Given the description of an element on the screen output the (x, y) to click on. 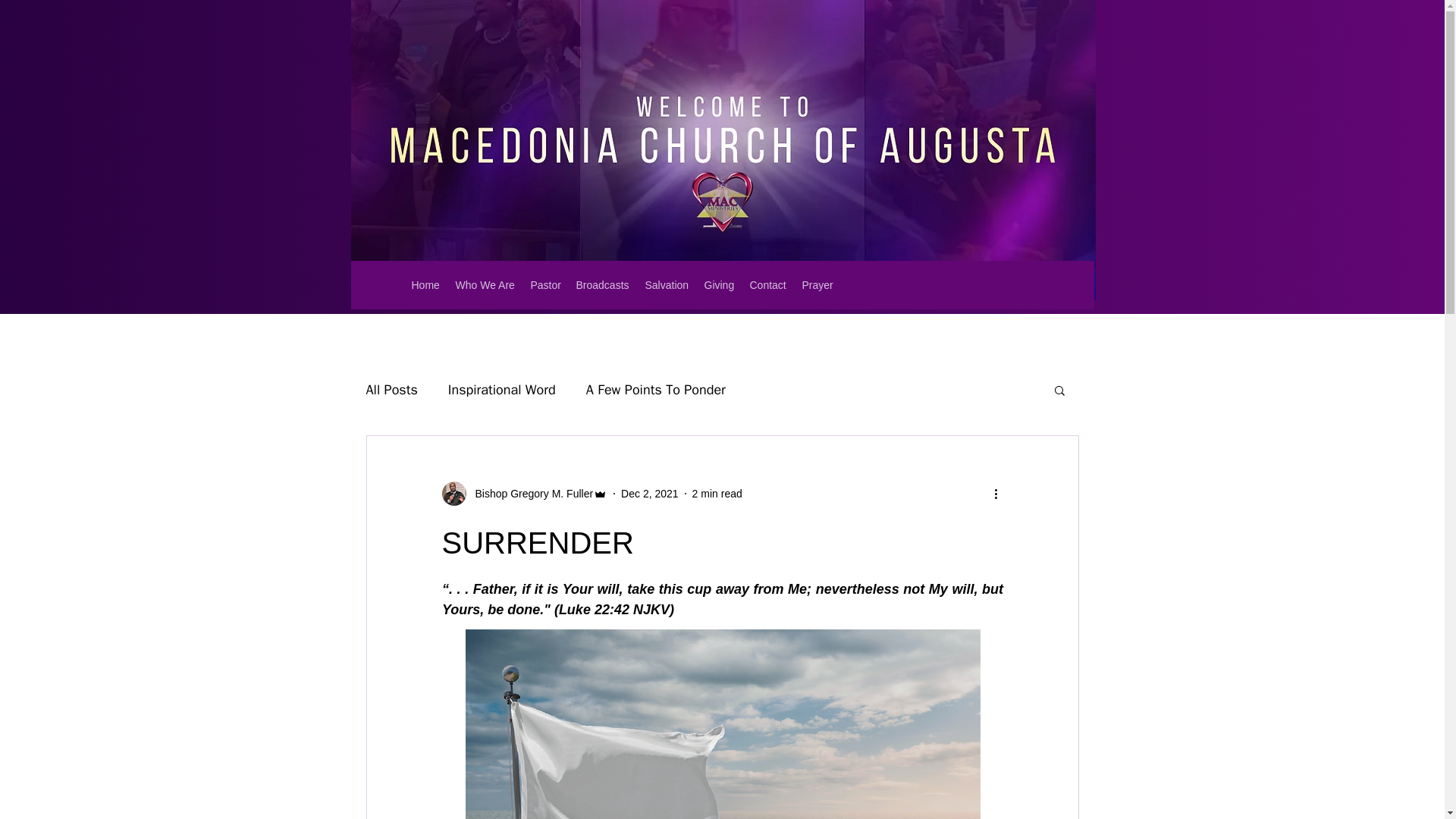
All Posts (390, 389)
Who We Are (484, 284)
Contact (767, 284)
2 min read (717, 492)
Salvation (666, 284)
Home (424, 284)
Bishop Gregory M. Fuller (524, 493)
Dec 2, 2021 (649, 492)
Broadcasts (603, 284)
Giving (718, 284)
Inspirational Word (502, 389)
Bishop Gregory M. Fuller (528, 493)
Pastor (545, 284)
Prayer (817, 284)
A Few Points To Ponder (655, 389)
